Given the description of an element on the screen output the (x, y) to click on. 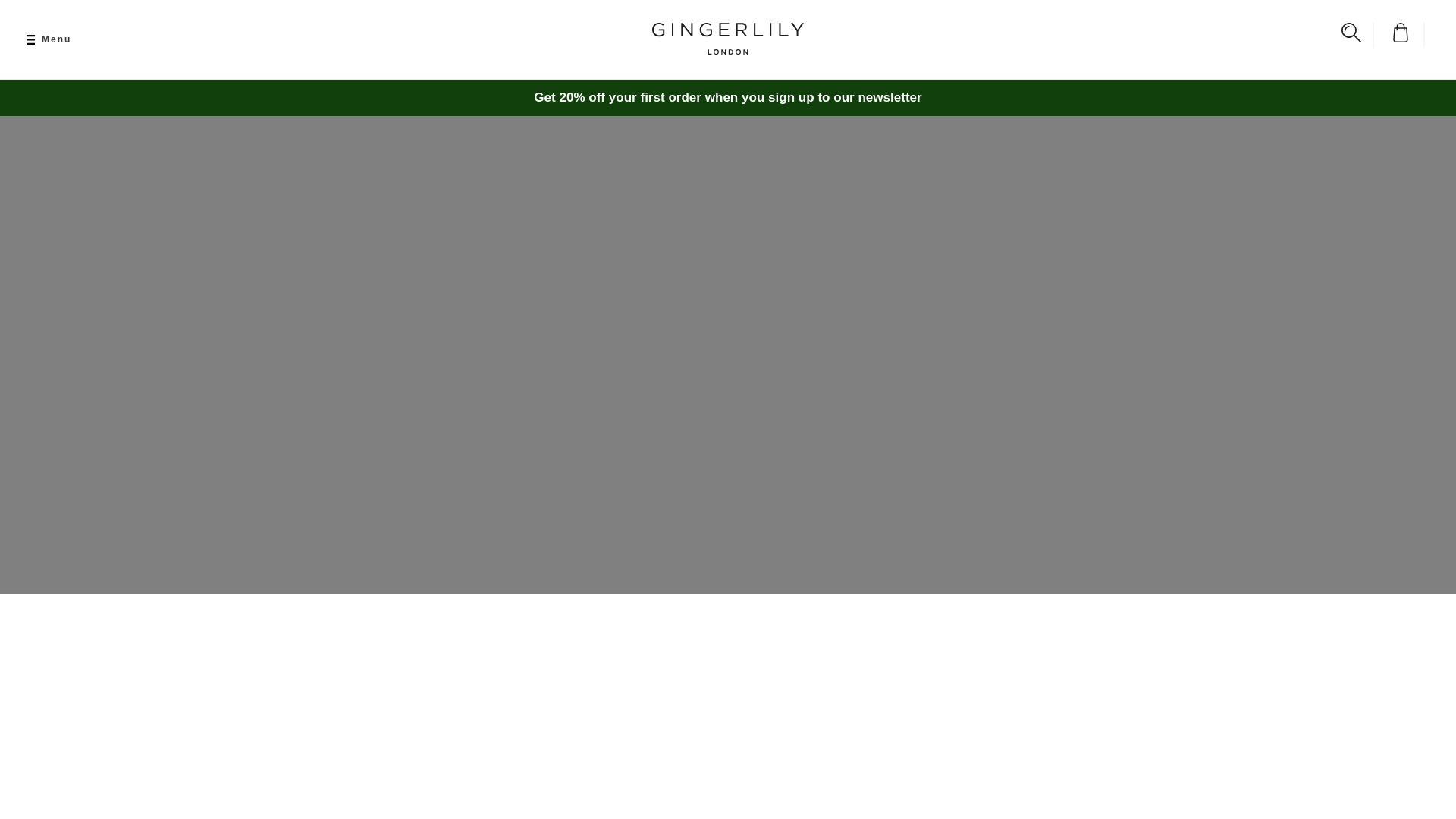
Cart (1405, 34)
Menu (48, 39)
Gingerlily London (727, 49)
